Given the description of an element on the screen output the (x, y) to click on. 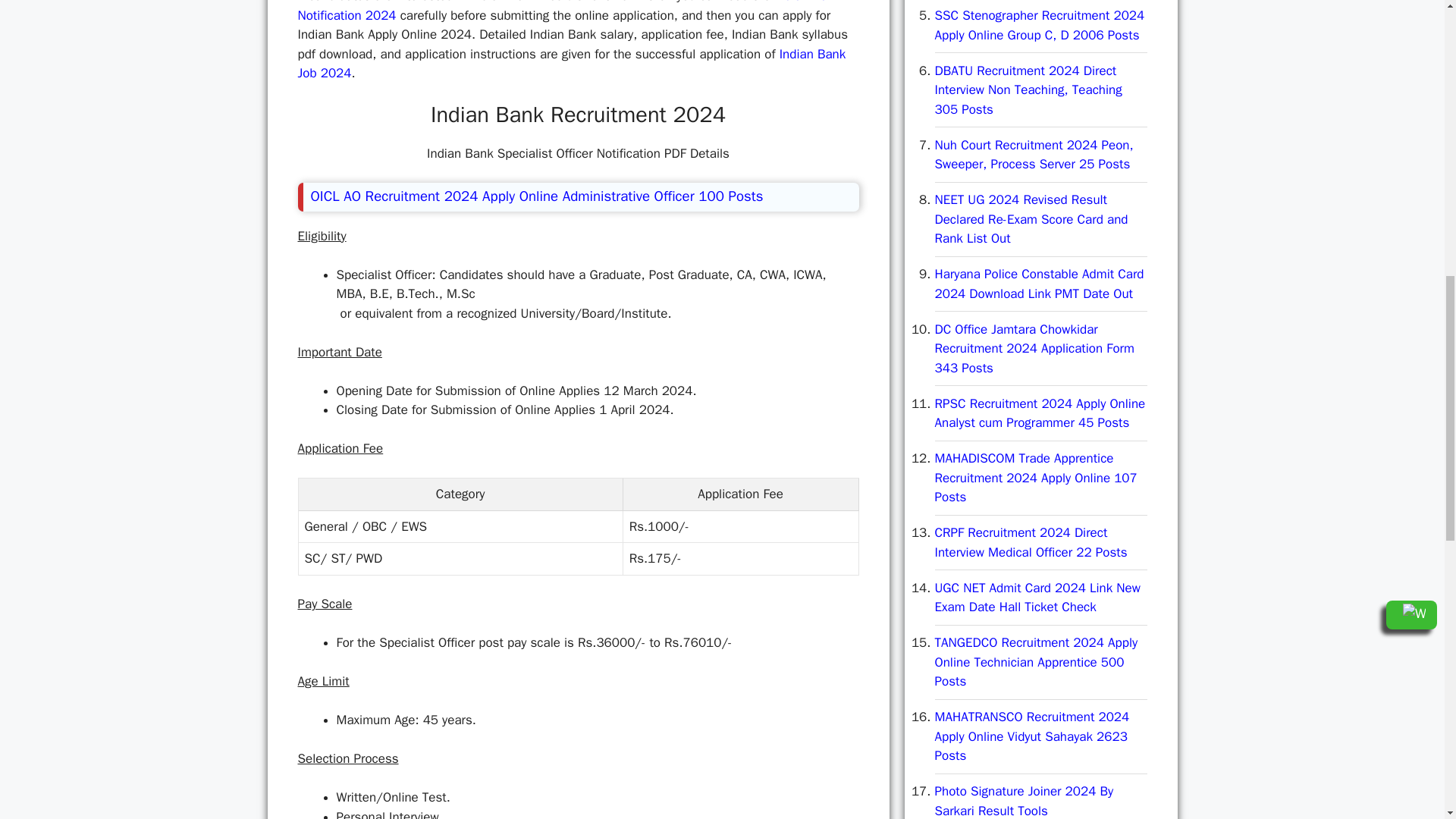
Indian Bank Job 2024 (571, 63)
Indian Bank Notification 2024 (568, 11)
